Given the description of an element on the screen output the (x, y) to click on. 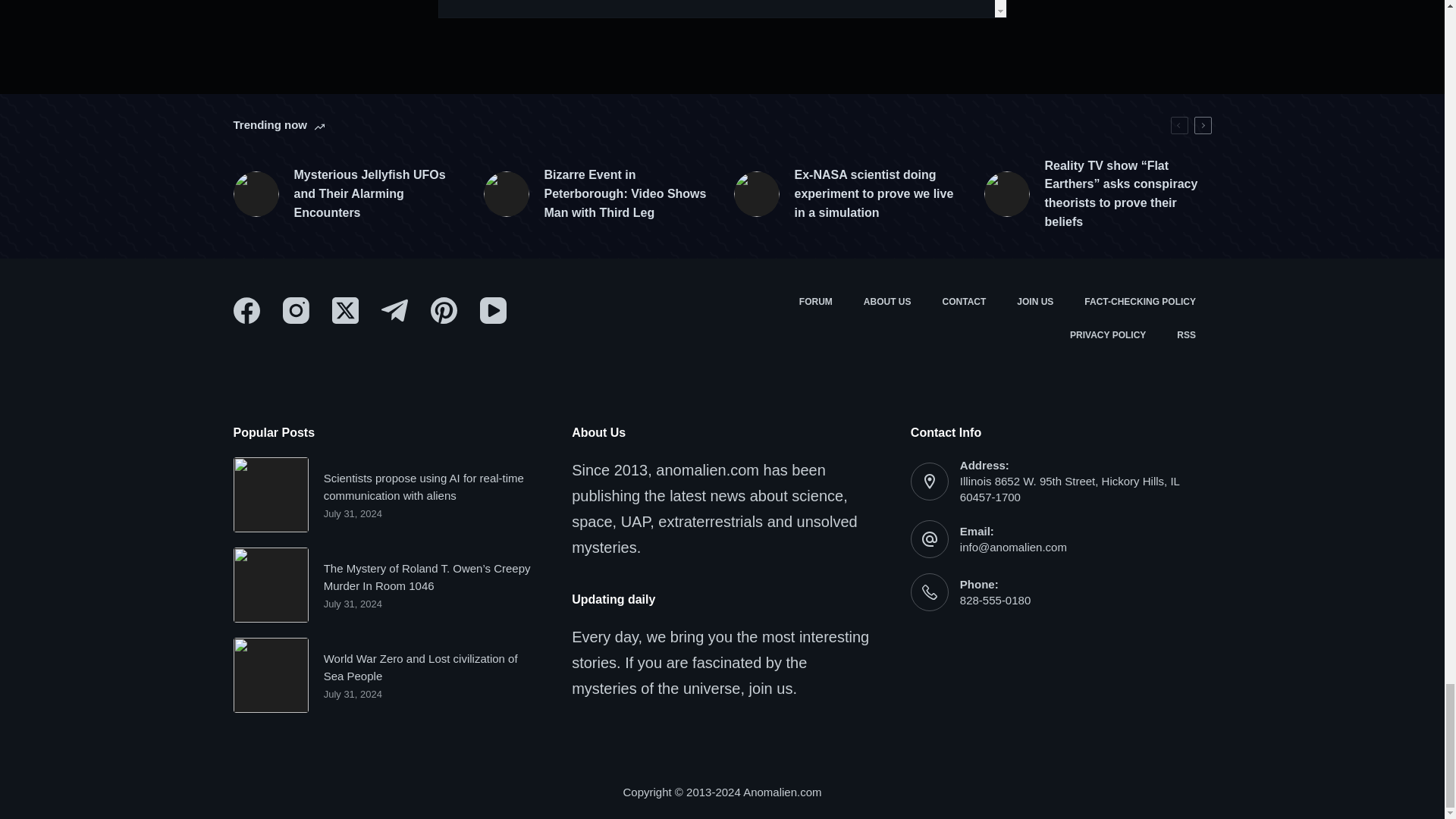
Contact us (964, 302)
Comments (722, 9)
Discussion Forum (815, 302)
